Given the description of an element on the screen output the (x, y) to click on. 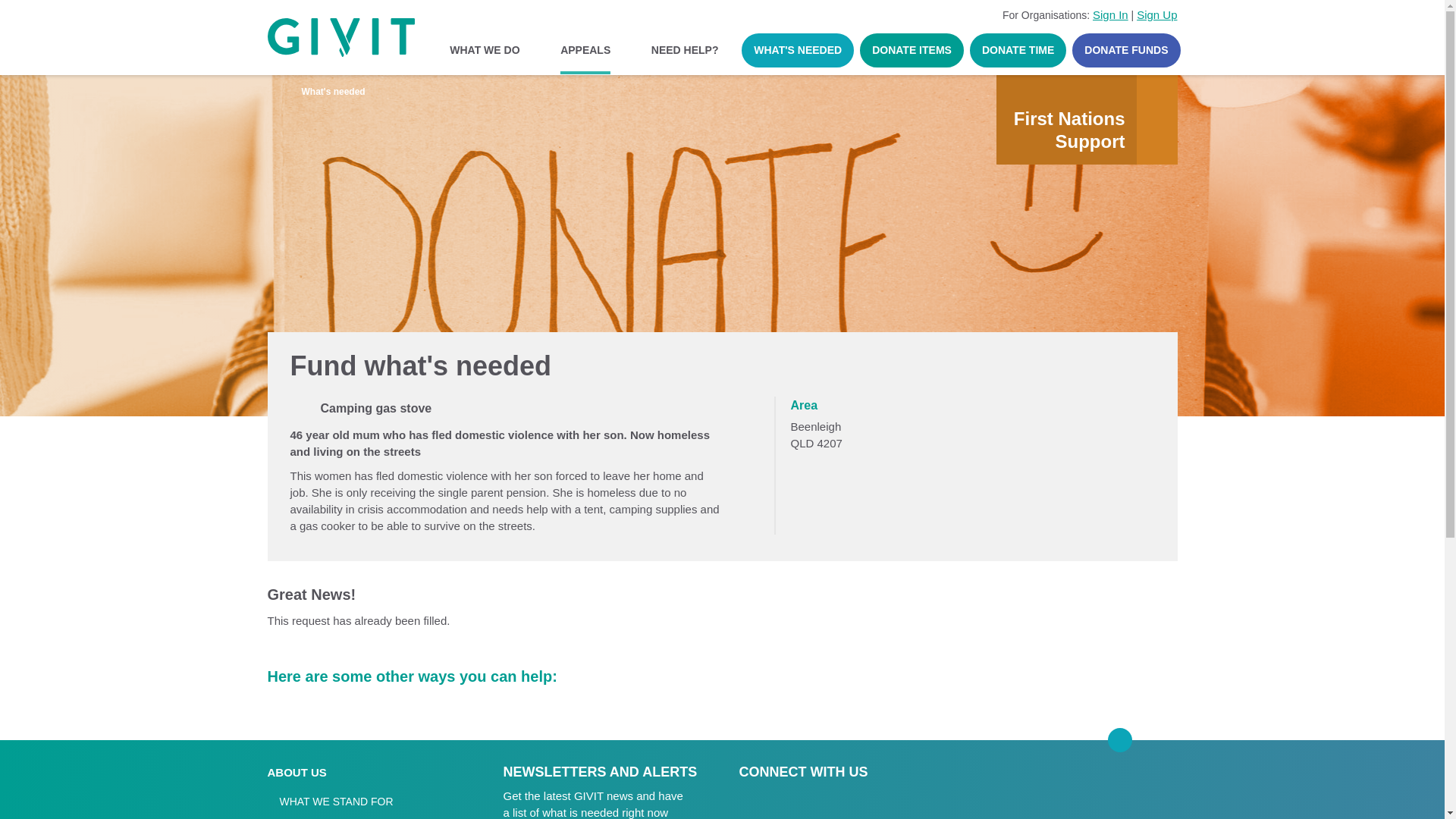
Givit homepage (1122, 793)
DONATE FUNDS (1125, 50)
Sign Up (1156, 14)
NEED HELP? (684, 50)
WHAT WE STAND FOR (328, 802)
ABOUT US (296, 771)
Sign In (1110, 14)
WHAT'S NEEDED (797, 50)
APPEALS (585, 50)
